Given the description of an element on the screen output the (x, y) to click on. 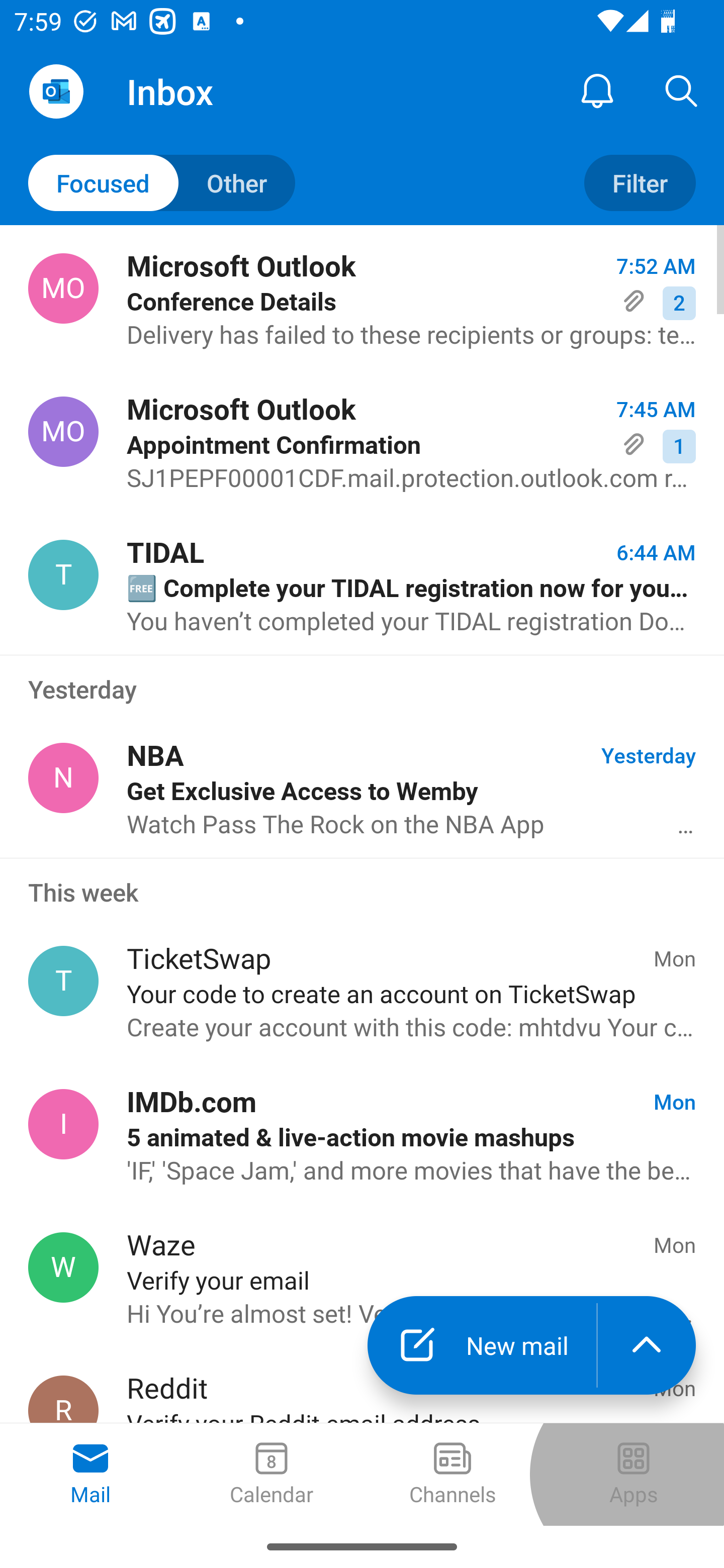
Notification Center (597, 90)
Search, ,  (681, 90)
Open Navigation Drawer (55, 91)
Toggle to other mails (161, 183)
Filter (639, 183)
TIDAL, hello@email.tidal.com (63, 574)
NBA, NBA@email.nba.com (63, 778)
TicketSwap, info@ticketswap.com (63, 980)
IMDb.com, do-not-reply@imdb.com (63, 1123)
Waze, noreply@waze.com (63, 1267)
New mail (481, 1344)
launch the extended action menu (646, 1344)
Calendar (271, 1474)
Channels (452, 1474)
Apps (633, 1474)
